Given the description of an element on the screen output the (x, y) to click on. 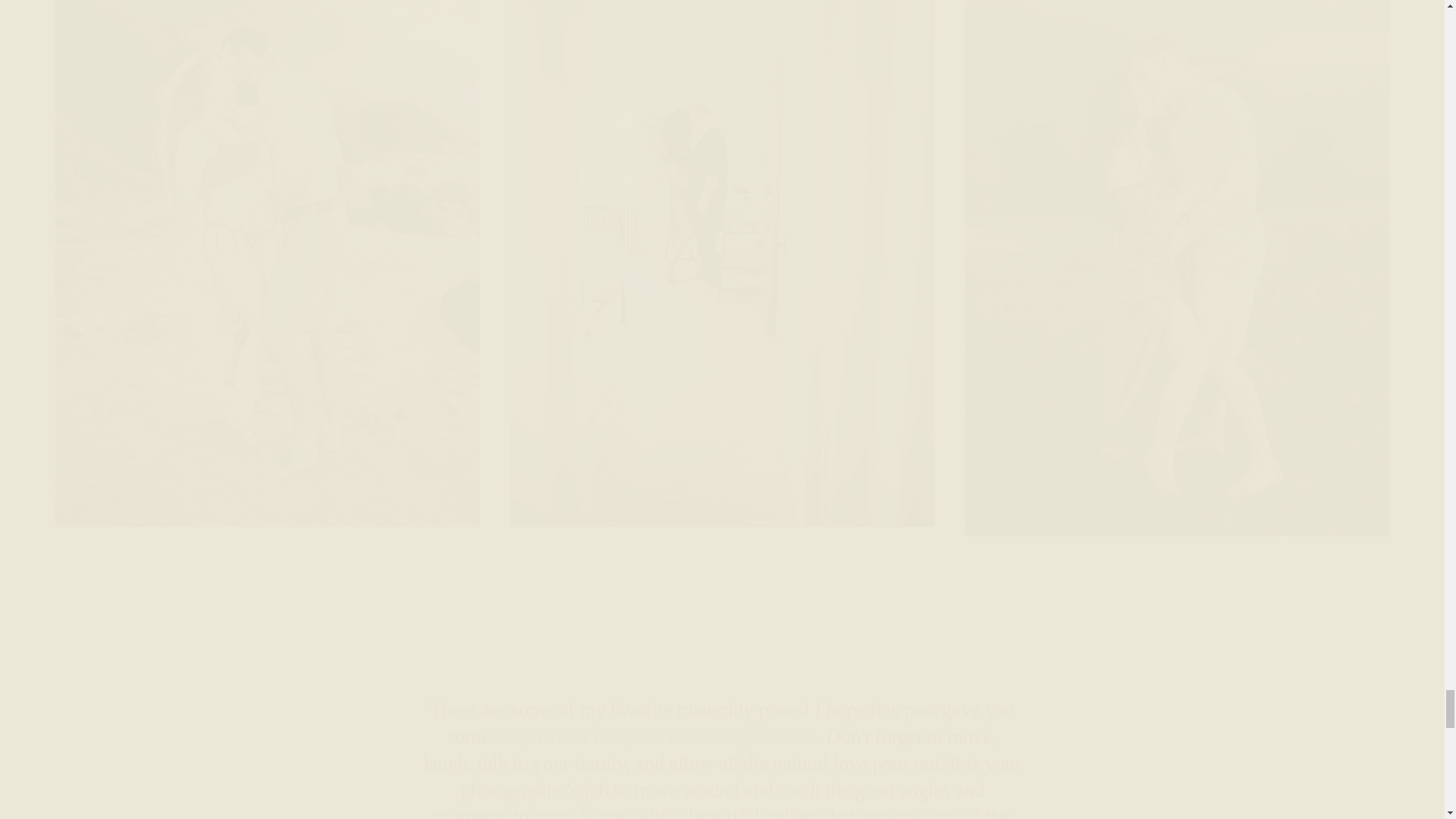
inspiration for your maternity session (655, 736)
